Given the description of an element on the screen output the (x, y) to click on. 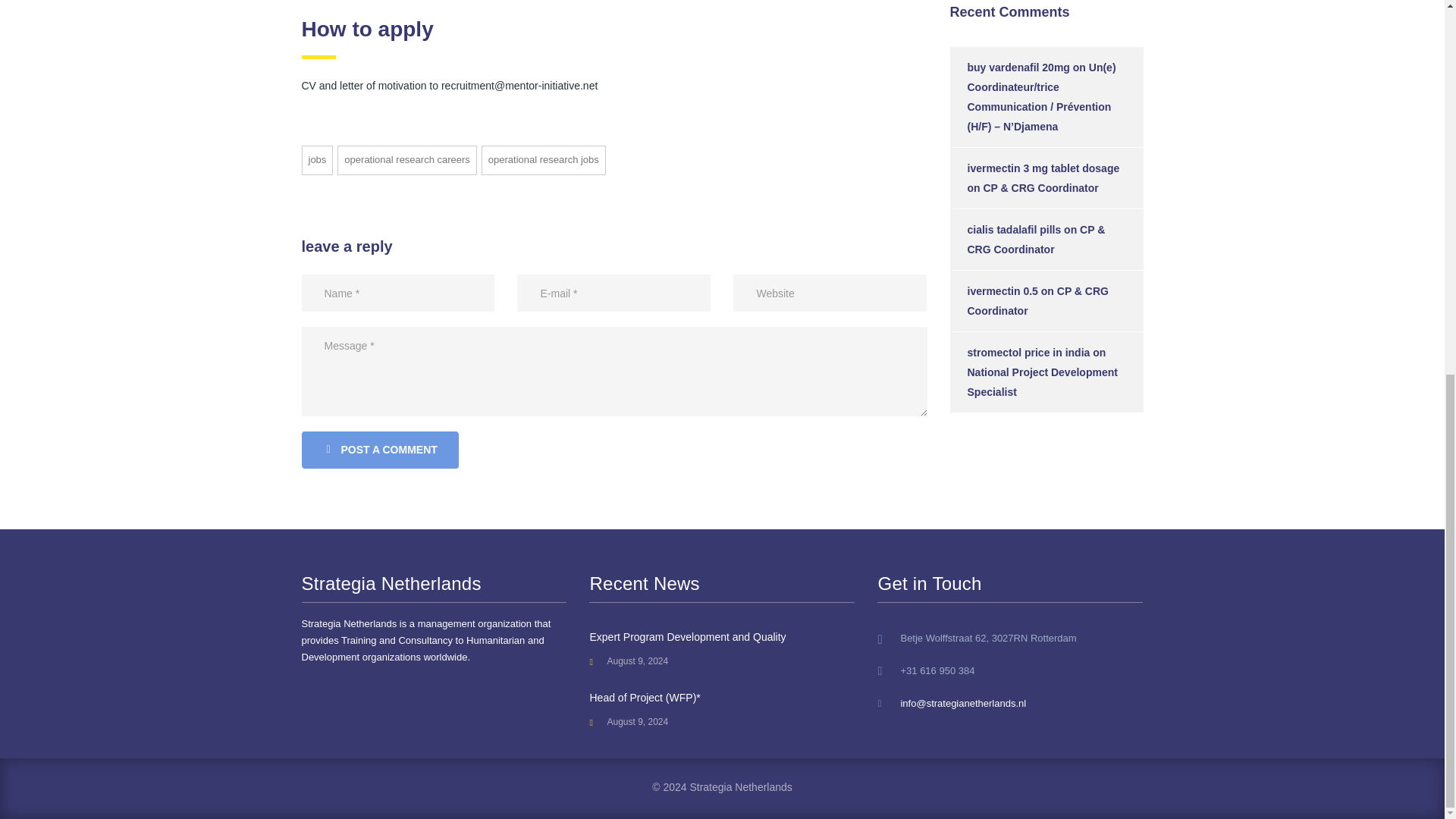
buy vardenafil 20mg (1019, 67)
jobs (317, 160)
operational research jobs (543, 160)
operational research careers (406, 160)
cialis tadalafil pills (1014, 229)
ivermectin 3 mg tablet dosage (1043, 168)
POST A COMMENT (379, 449)
